Given the description of an element on the screen output the (x, y) to click on. 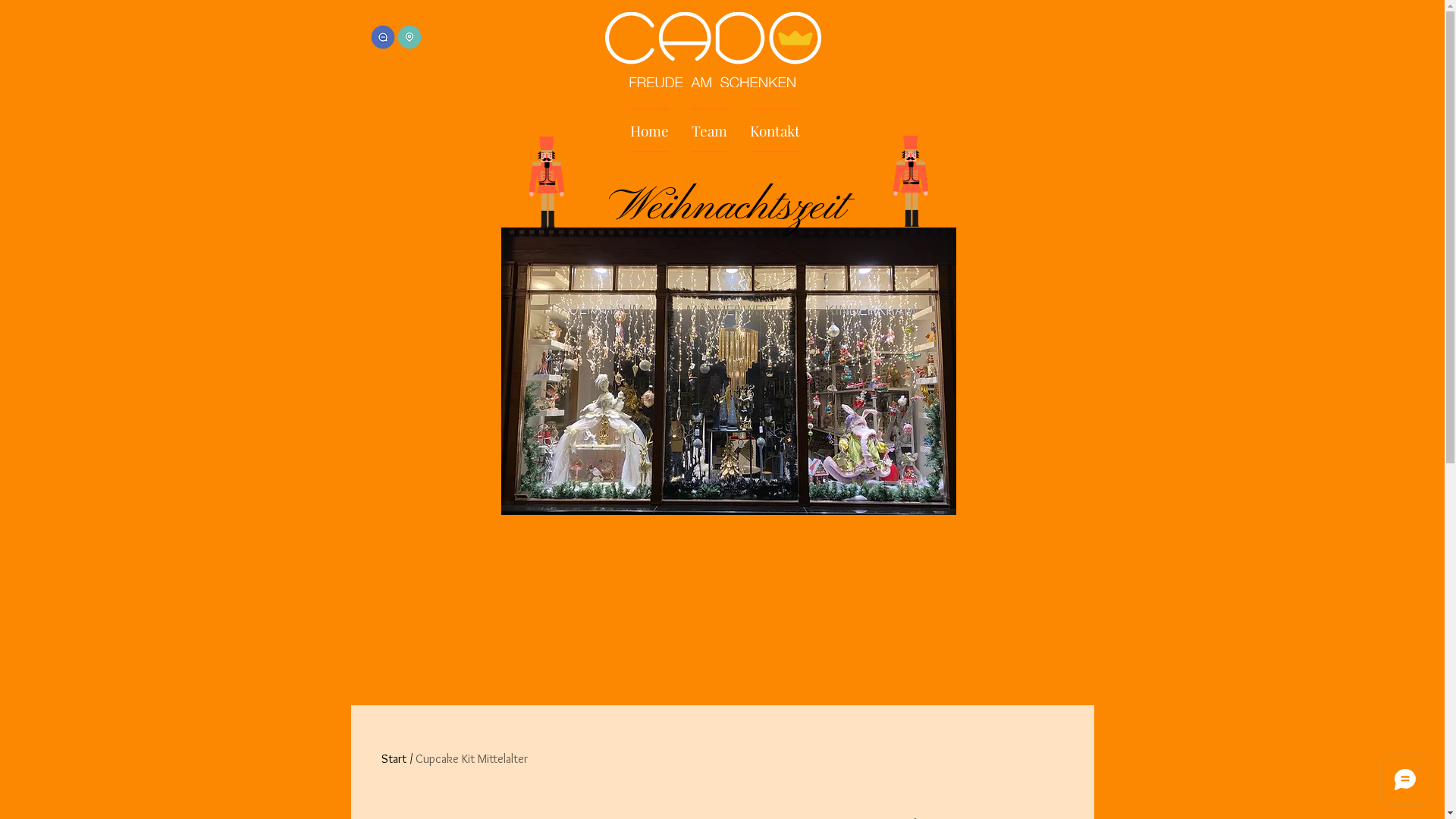
Team Element type: text (708, 130)
WhatsApp Image 2023-11-21 at 22.29.33 (1).jpeg Element type: hover (727, 370)
Kontakt Element type: text (774, 130)
Cupcake Kit Mittelalter Element type: text (471, 758)
Start Element type: text (392, 758)
Home Element type: text (654, 130)
